Given the description of an element on the screen output the (x, y) to click on. 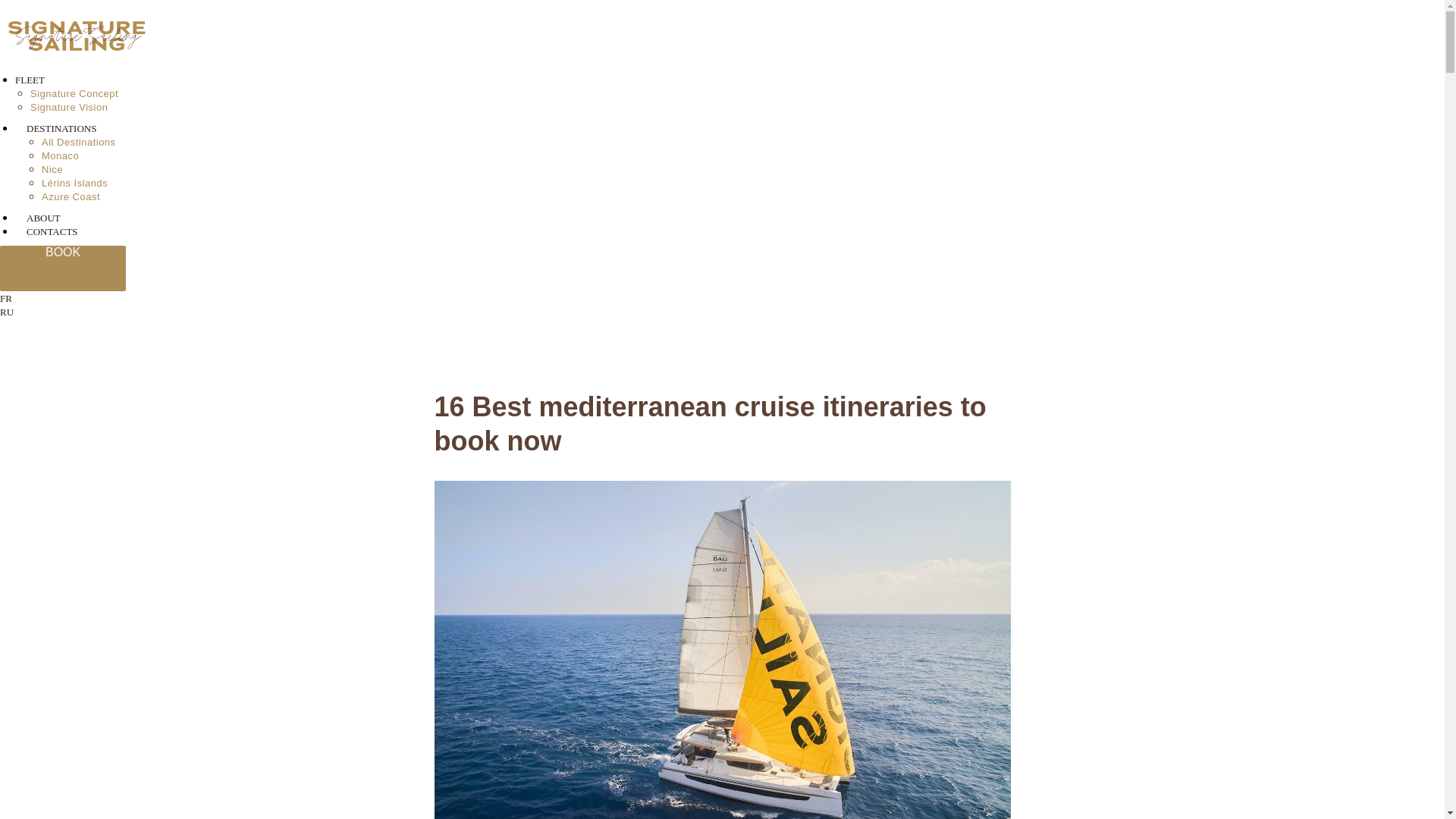
Monaco (60, 155)
ABOUT (43, 217)
RU (6, 311)
CONTACTS (52, 231)
FLEET (29, 79)
DESTINATIONS (61, 128)
Azure Coast (71, 196)
FR (5, 297)
All Destinations (79, 142)
Signature Vision (68, 107)
